Given the description of an element on the screen output the (x, y) to click on. 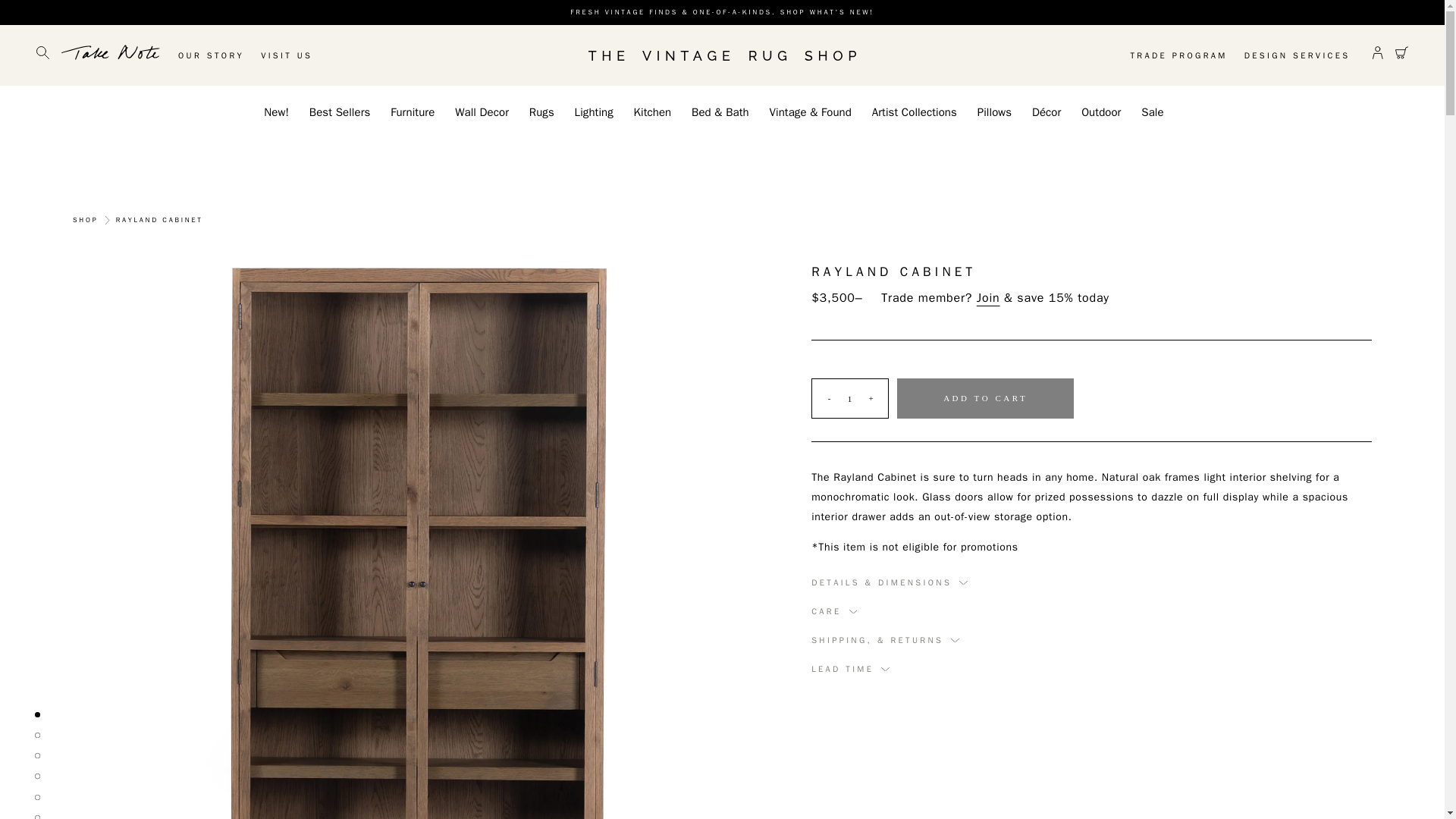
my account (1378, 55)
Visit Us (294, 55)
Design Services (1289, 55)
Trade Program (1170, 55)
Add to Cart (985, 398)
OUR STORY (218, 55)
1 (849, 398)
Our Story (218, 55)
VISIT US (294, 55)
